Given the description of an element on the screen output the (x, y) to click on. 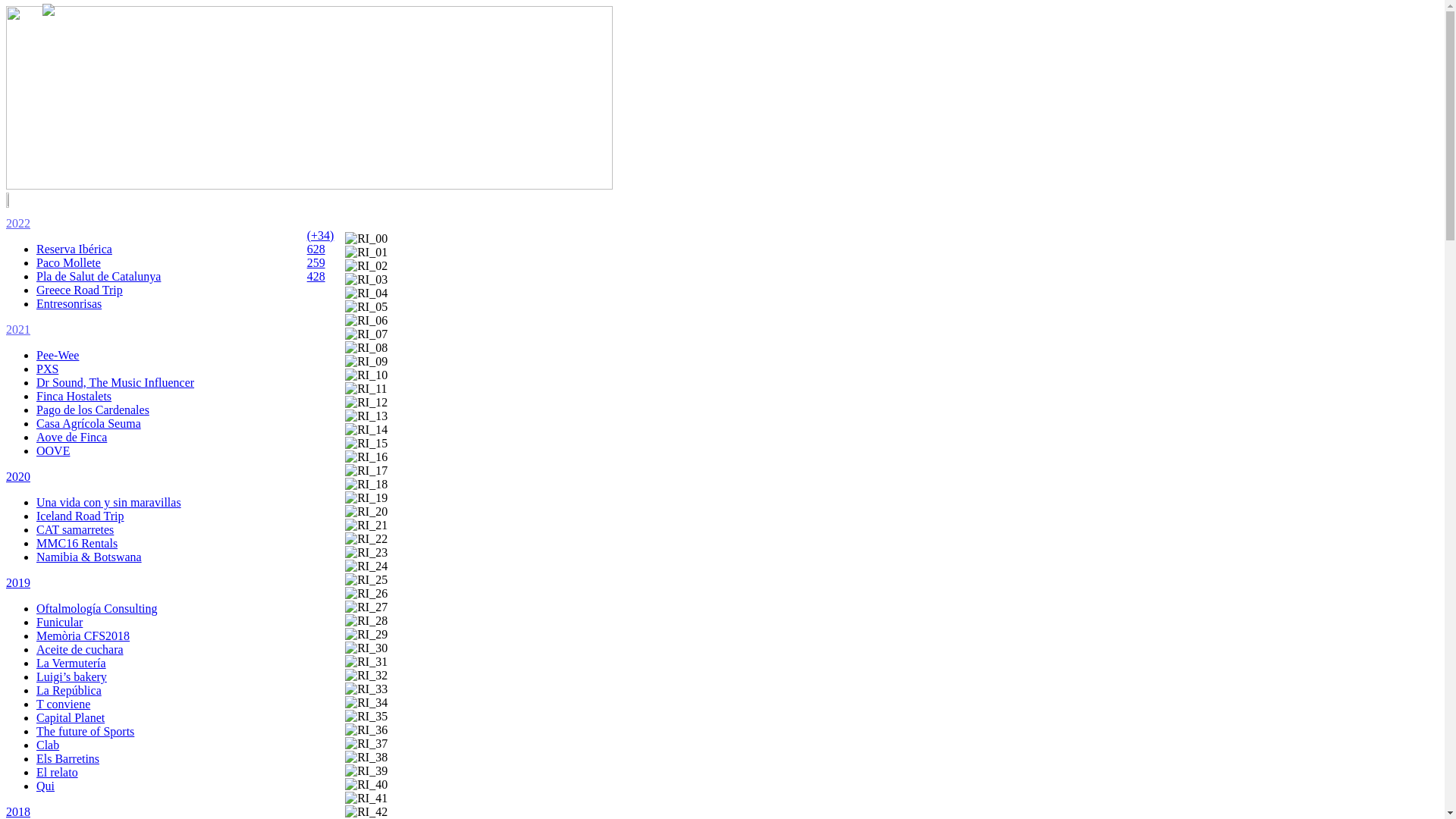
Funicular Element type: text (59, 621)
MMC16 Rentals Element type: text (76, 542)
Qui Element type: text (45, 785)
OOVE Element type: text (52, 450)
2022 Element type: text (18, 222)
Paco Mollete Element type: text (68, 262)
Namibia & Botswana Element type: text (88, 556)
2019 Element type: text (18, 582)
Entresonrisas Element type: text (68, 303)
2020 Element type: text (18, 476)
(+34) 628 259 428 Element type: text (320, 255)
Una vida con y sin maravillas Element type: text (108, 501)
Aove de Finca Element type: text (71, 436)
PXS Element type: text (47, 368)
The future of Sports Element type: text (85, 730)
El relato Element type: text (57, 771)
2021 Element type: text (18, 329)
Clab Element type: text (47, 744)
CAT samarretes Element type: text (74, 529)
Pago de los Cardenales Element type: text (92, 409)
Capital Planet Element type: text (70, 717)
Pee-Wee Element type: text (57, 354)
2018 Element type: text (18, 811)
Dr Sound, The Music Influencer Element type: text (115, 382)
Pla de Salut de Catalunya Element type: text (98, 275)
Finca Hostalets Element type: text (73, 395)
T conviene Element type: text (63, 703)
Aceite de cuchara Element type: text (79, 649)
Els Barretins Element type: text (67, 758)
Greece Road Trip Element type: text (79, 289)
Iceland Road Trip Element type: text (80, 515)
